Given the description of an element on the screen output the (x, y) to click on. 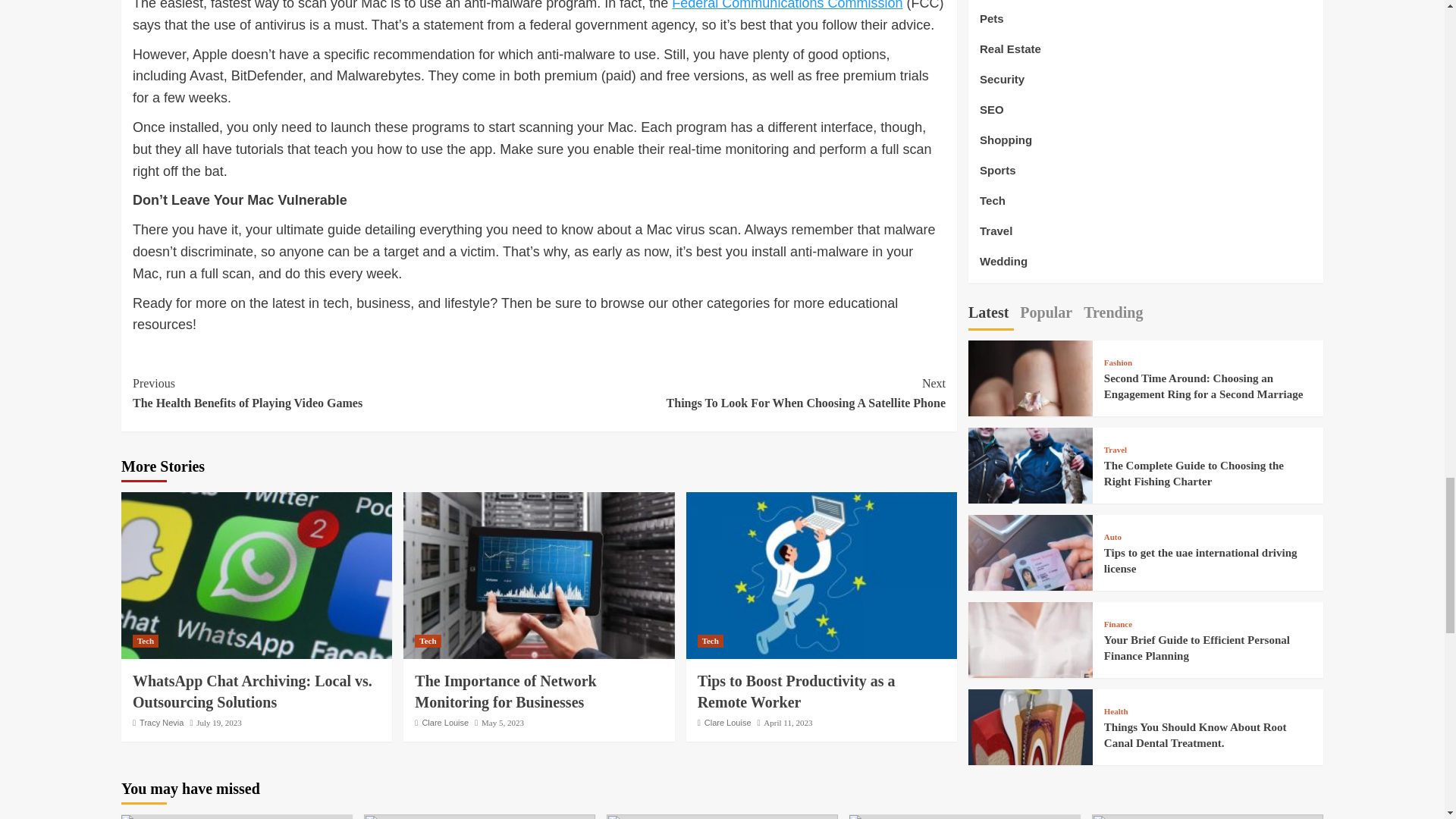
July 19, 2023 (218, 722)
Tracy Nevia (161, 722)
WhatsApp Chat Archiving: Local vs. Outsourcing Solutions (252, 691)
May 5, 2023 (502, 722)
The Importance of Network Monitoring for Businesses (504, 691)
Tips to Boost Productivity as a Remote Worker (796, 691)
Clare Louise (741, 392)
Tech (727, 722)
Tech (145, 640)
Clare Louise (427, 640)
Federal Communications Commission (335, 392)
Tech (445, 722)
